Given the description of an element on the screen output the (x, y) to click on. 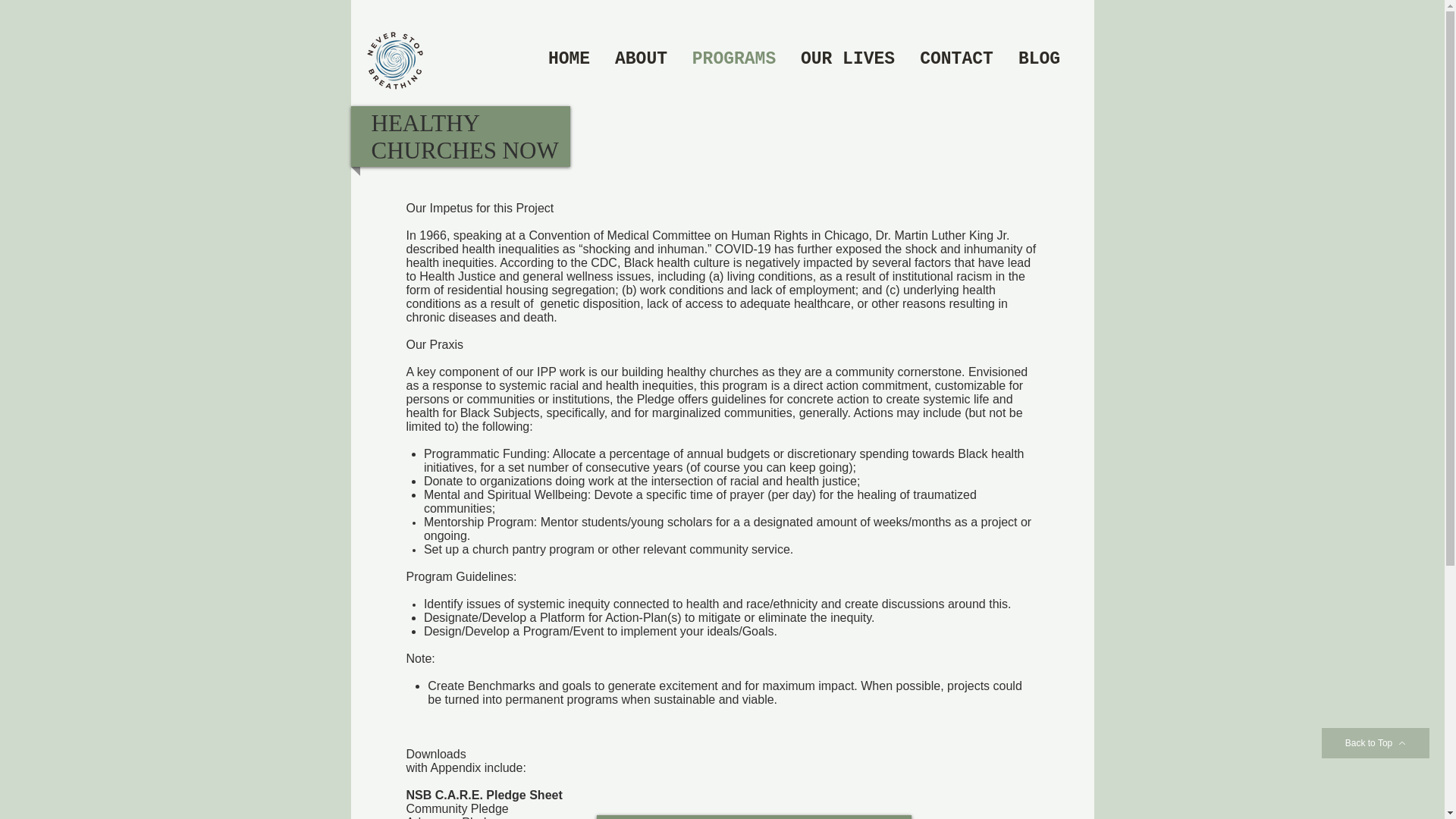
Back to Top (1375, 743)
OUR LIVES (848, 58)
BLOG (1038, 58)
HOME (568, 58)
PROGRAMS (733, 58)
CONTACT (956, 58)
ABOUT (640, 58)
